Given the description of an element on the screen output the (x, y) to click on. 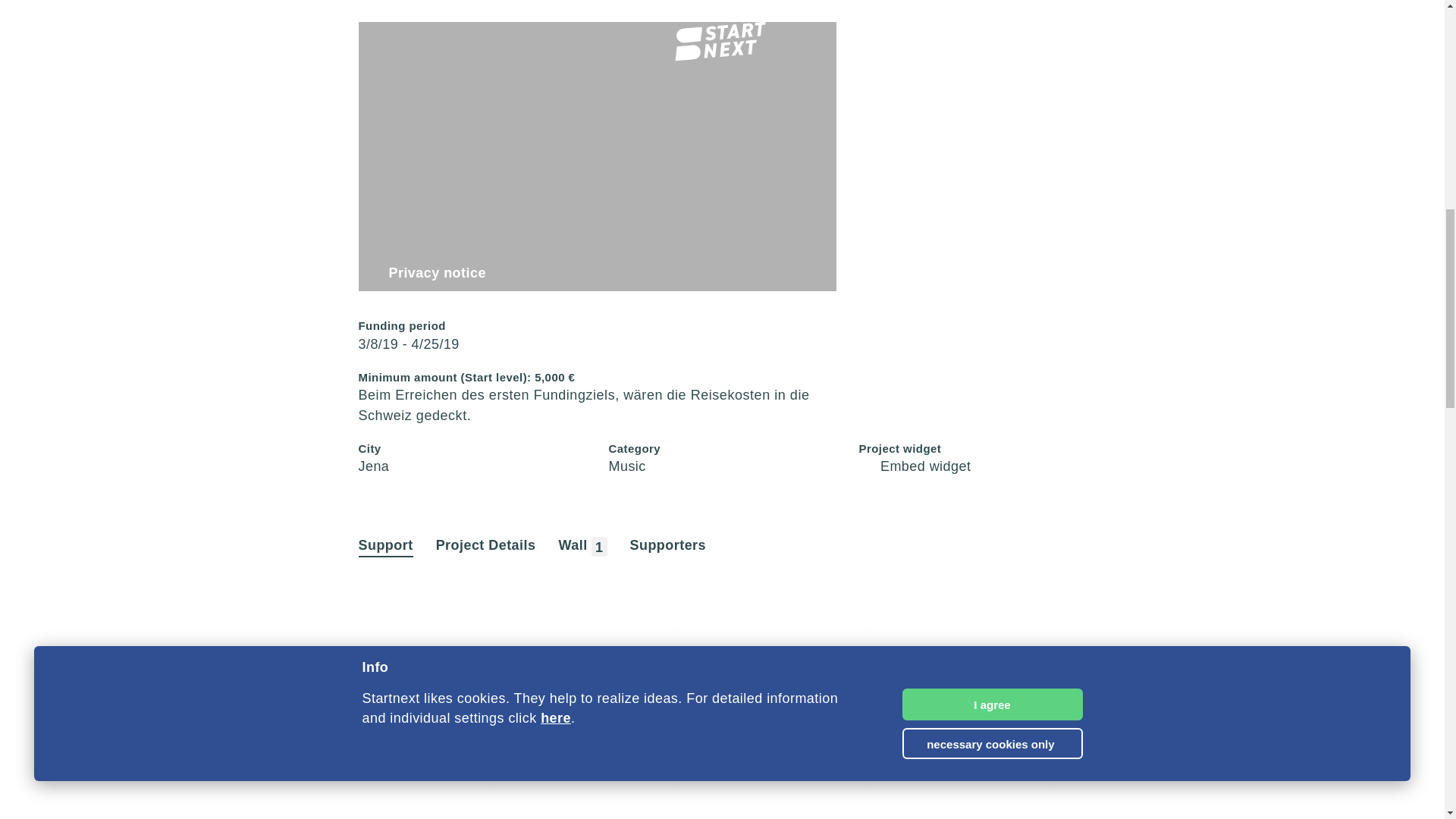
Embed widget (915, 466)
Play video (596, 156)
Project widget (915, 466)
